Given the description of an element on the screen output the (x, y) to click on. 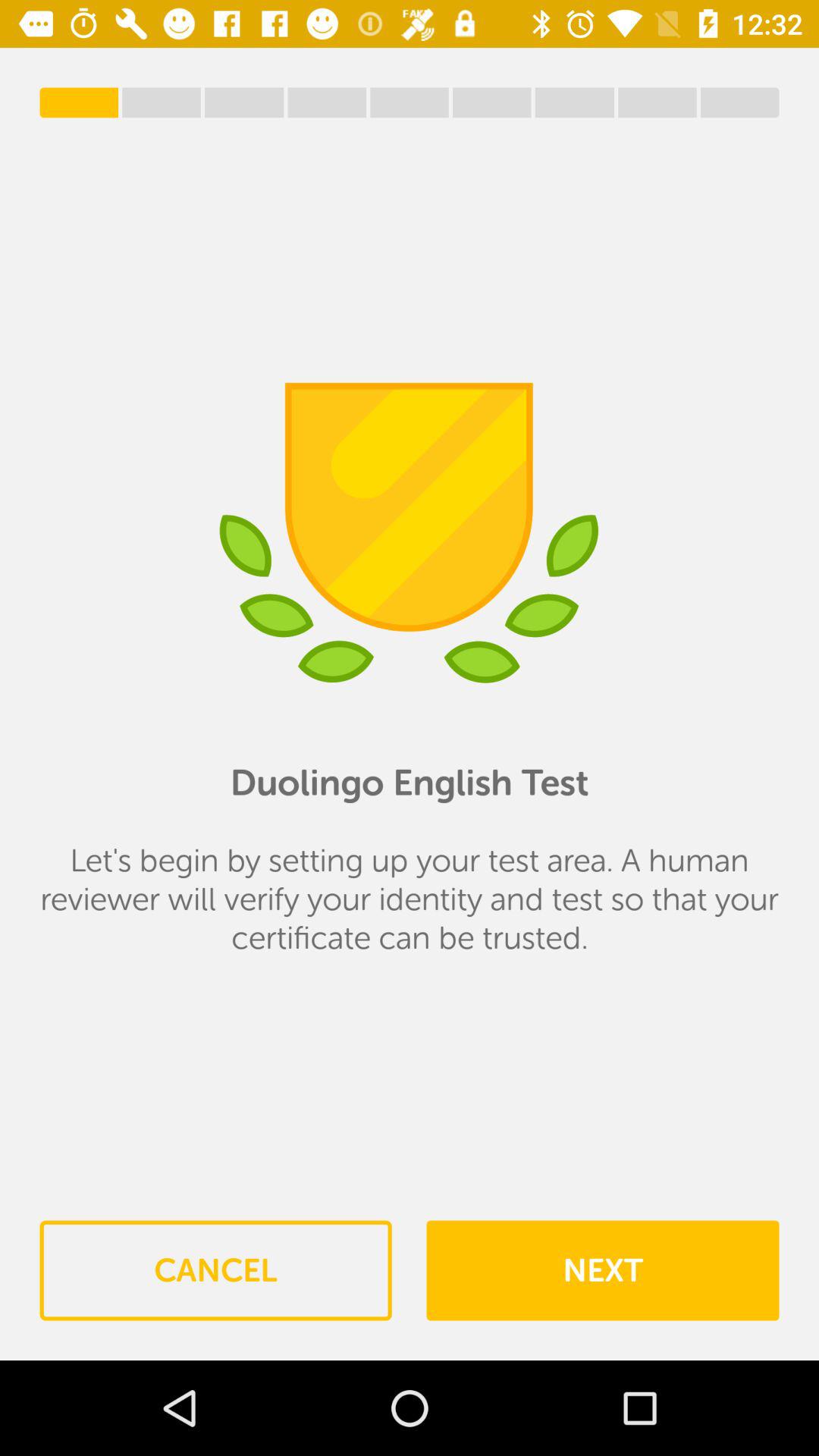
open item below the let s begin item (215, 1270)
